Given the description of an element on the screen output the (x, y) to click on. 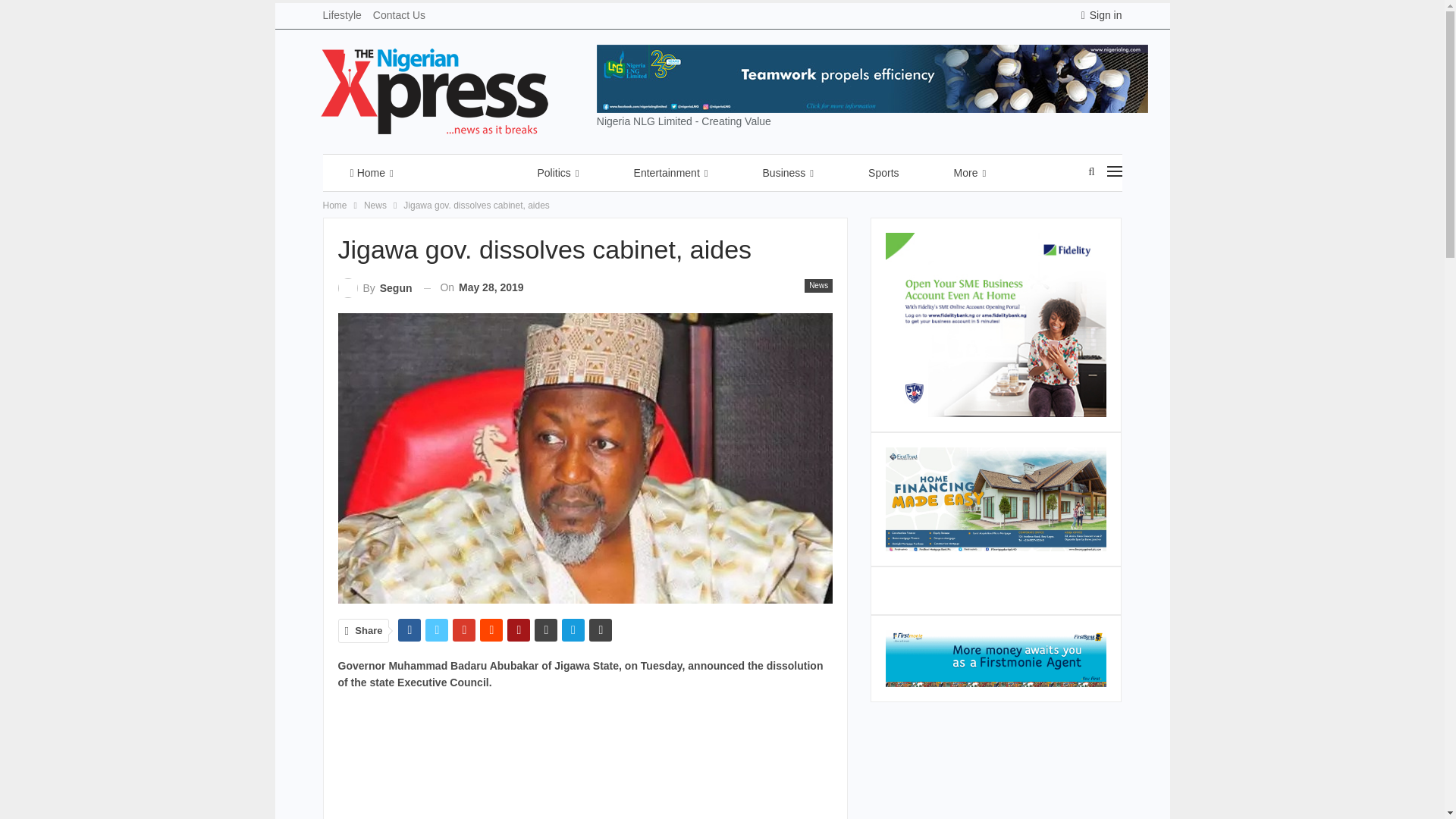
Lifestyle (342, 15)
Business (788, 172)
Browse Author Articles (374, 287)
Sports (883, 172)
More (969, 172)
Politics (557, 172)
Contact Us (398, 15)
Home (371, 172)
Advertisement (584, 761)
Sign in (1101, 14)
News (465, 172)
Entertainment (671, 172)
